Given the description of an element on the screen output the (x, y) to click on. 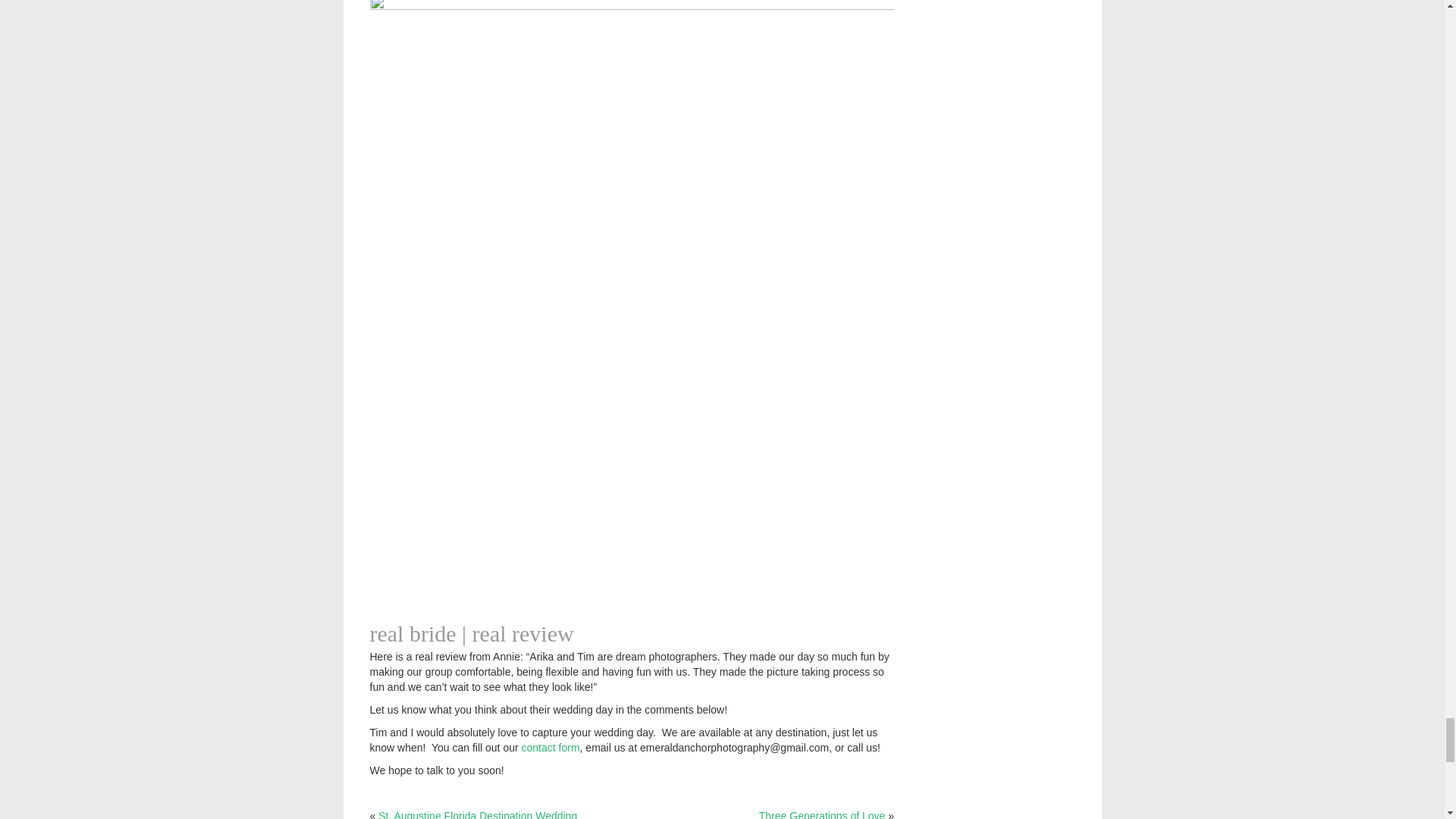
contact form (550, 747)
